Given the description of an element on the screen output the (x, y) to click on. 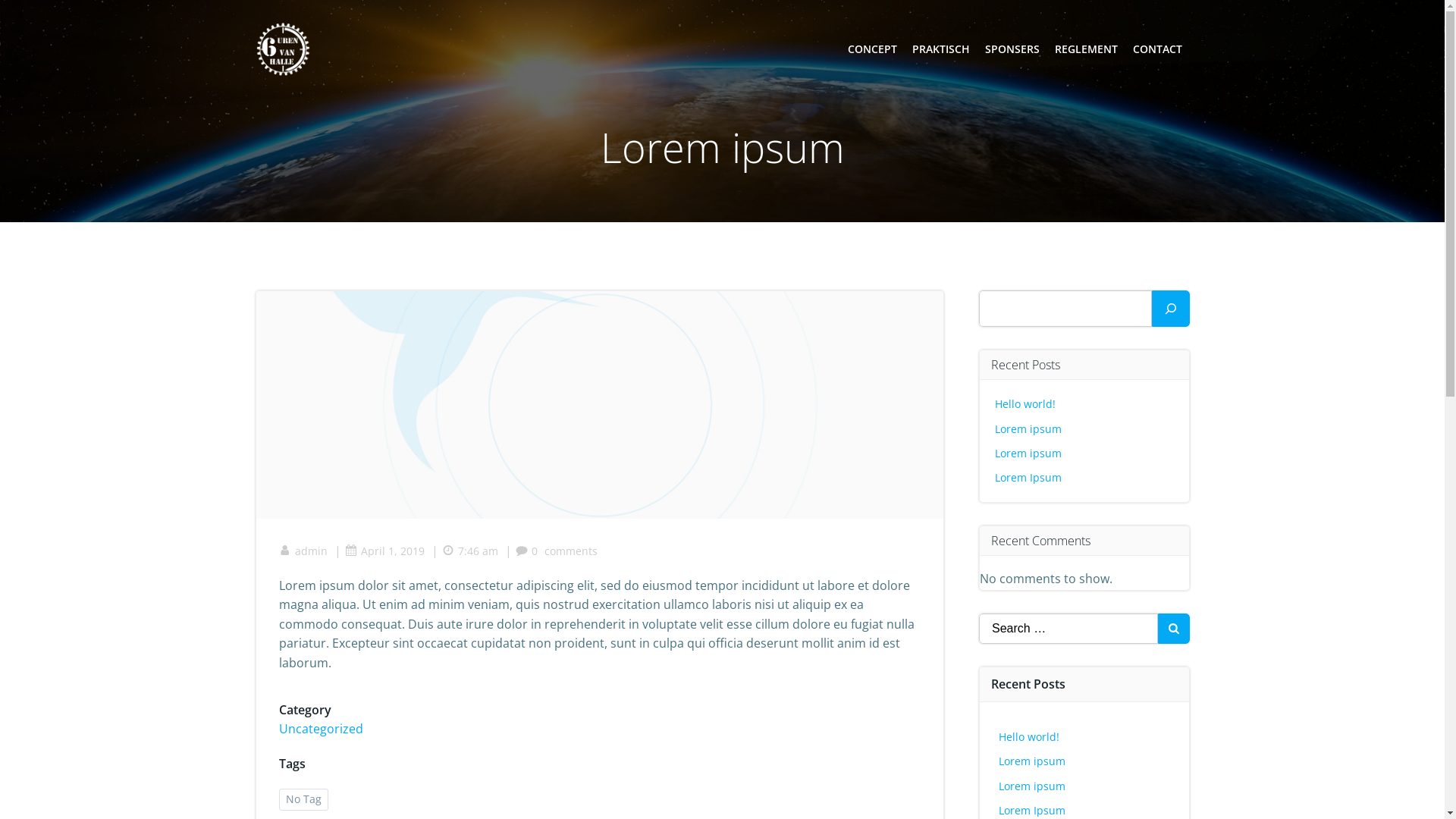
Lorem ipsum Element type: text (1027, 452)
CONCEPT Element type: text (872, 48)
Lorem Ipsum Element type: text (1031, 810)
Search  Element type: text (30, 15)
admin Element type: text (303, 550)
PRAKTISCH Element type: text (940, 48)
7:46 am Element type: text (469, 550)
Uncategorized Element type: text (321, 728)
April 1, 2019 Element type: text (383, 550)
REGLEMENT Element type: text (1085, 48)
SPONSERS Element type: text (1011, 48)
Lorem ipsum Element type: text (1027, 428)
Lorem ipsum Element type: text (1031, 760)
Hello world! Element type: text (1024, 403)
Hello world! Element type: text (1028, 736)
CONTACT Element type: text (1157, 48)
Lorem Ipsum Element type: text (1027, 477)
Lorem ipsum Element type: text (1031, 785)
0 Element type: text (526, 550)
